Given the description of an element on the screen output the (x, y) to click on. 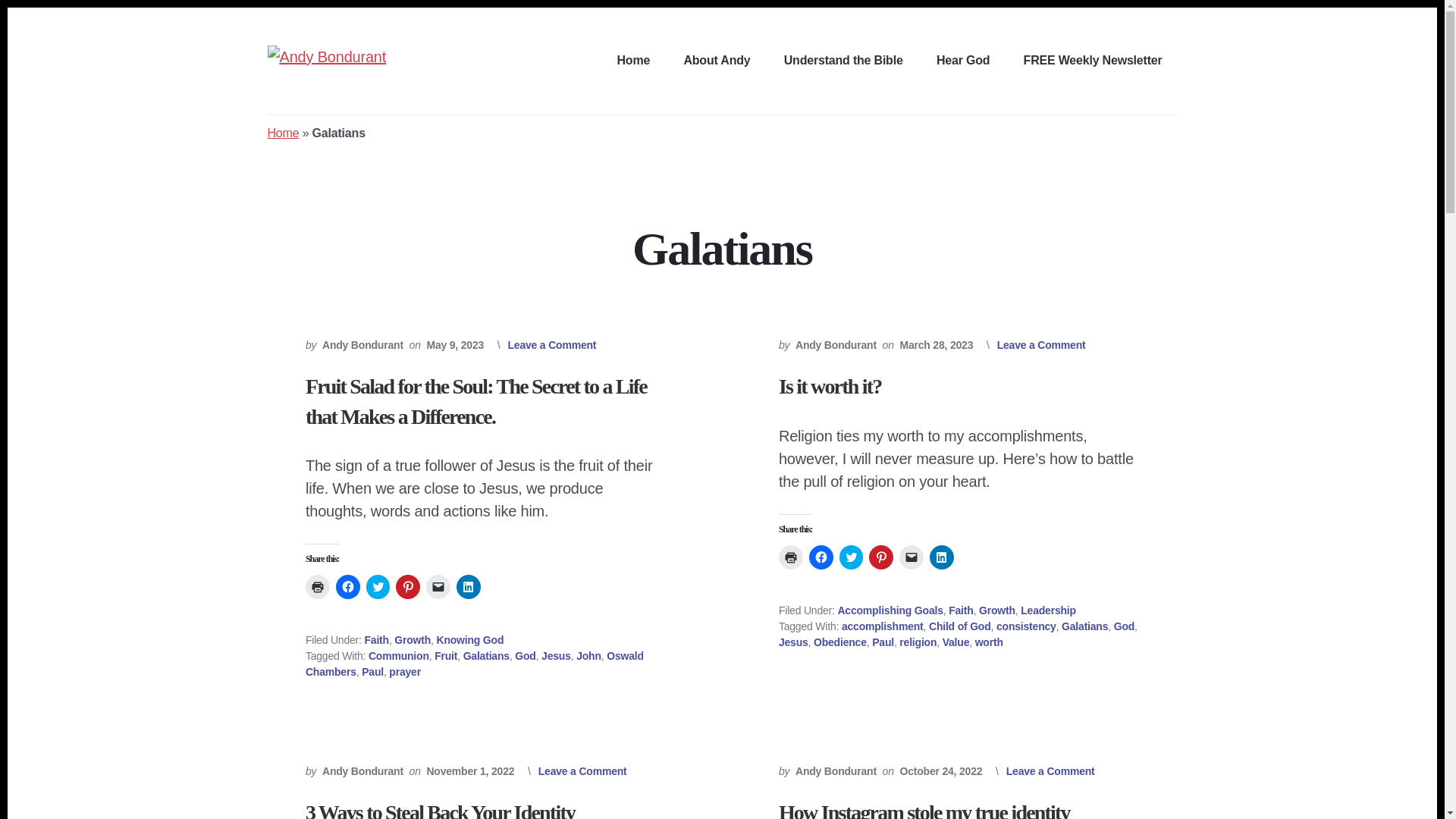
Click to share on Facebook (820, 557)
Click to share on LinkedIn (468, 586)
Oswald Chambers (474, 664)
Knowing God (469, 639)
Faith (376, 639)
Click to share on Twitter (851, 557)
John (588, 655)
Is it worth it? (830, 386)
Click to print (790, 557)
Andy Bondurant (835, 345)
FREE Weekly Newsletter (1093, 61)
Hear God (962, 61)
Home (633, 61)
Click to email a link to a friend (437, 586)
